Given the description of an element on the screen output the (x, y) to click on. 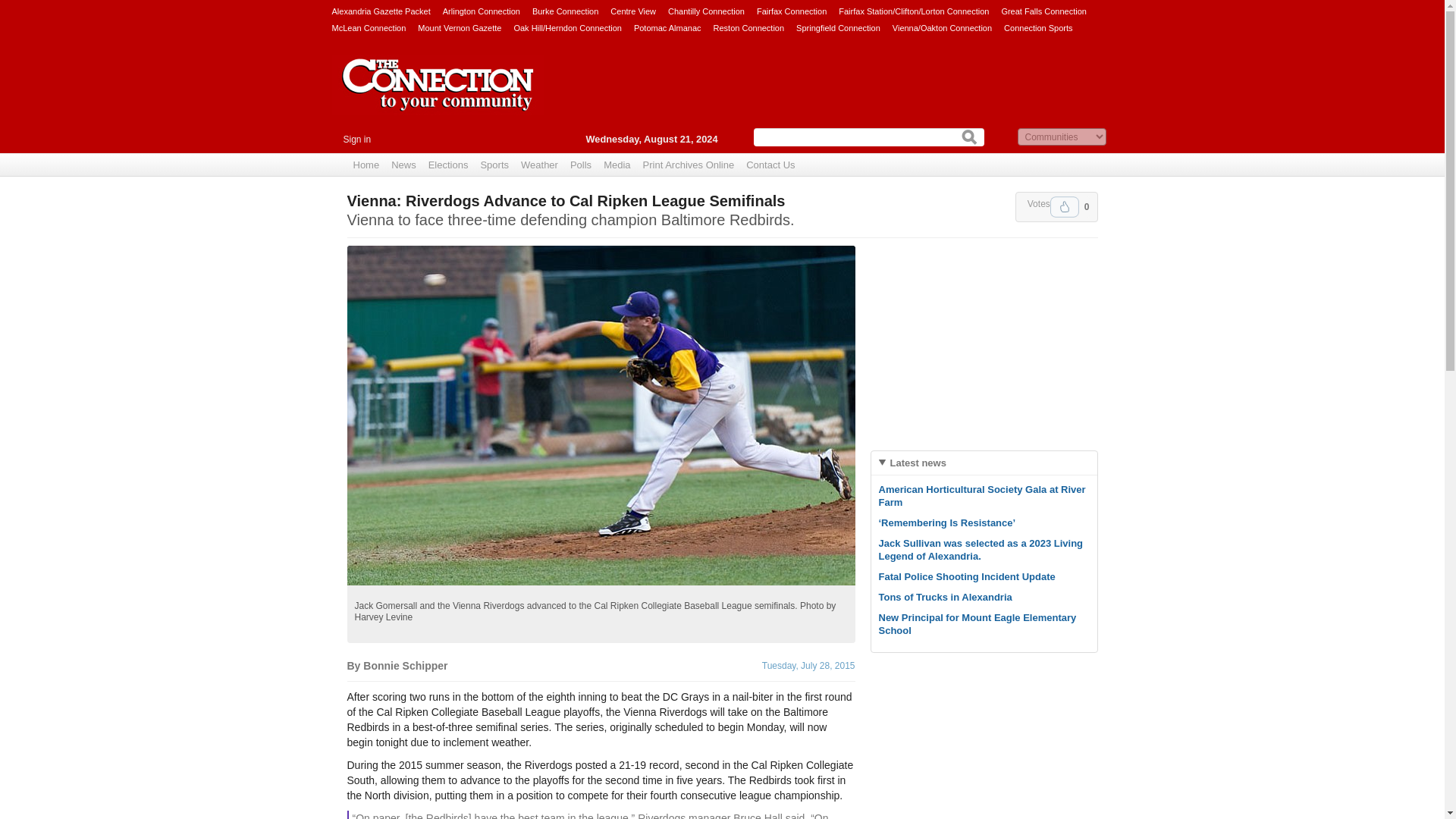
McLean Connection (368, 27)
Springfield Connection (838, 27)
Elections (448, 164)
News (403, 164)
Centre View (633, 11)
Burke Connection (565, 11)
Alexandria Gazette Packet (380, 11)
Reston Connection (748, 27)
Great Falls Connection (1043, 11)
The Connection (437, 96)
